Given the description of an element on the screen output the (x, y) to click on. 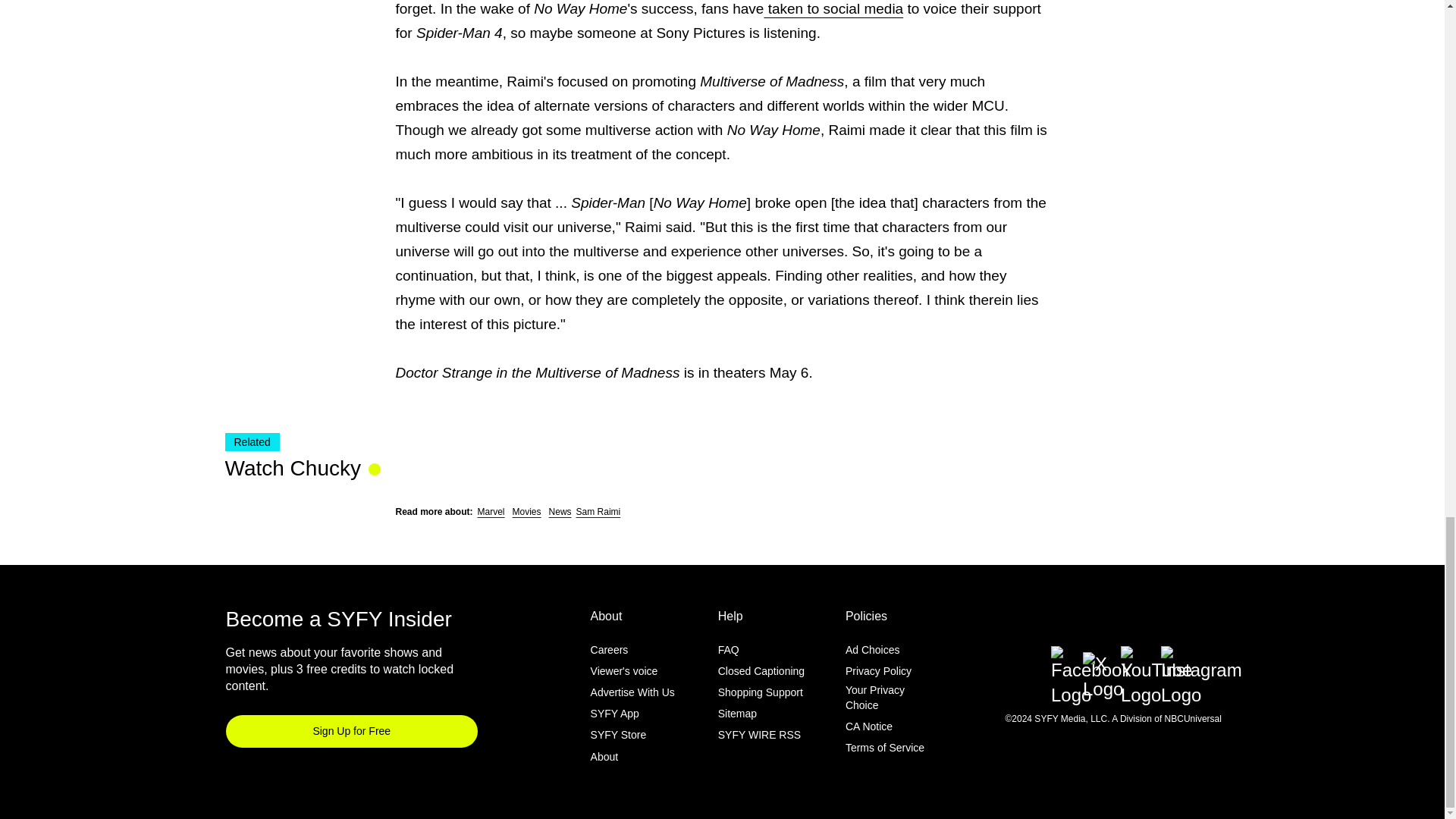
Advertise With Us (633, 692)
taken to social media (832, 8)
Movies (526, 511)
News (560, 511)
Sam Raimi (598, 511)
Marvel (491, 511)
